Given the description of an element on the screen output the (x, y) to click on. 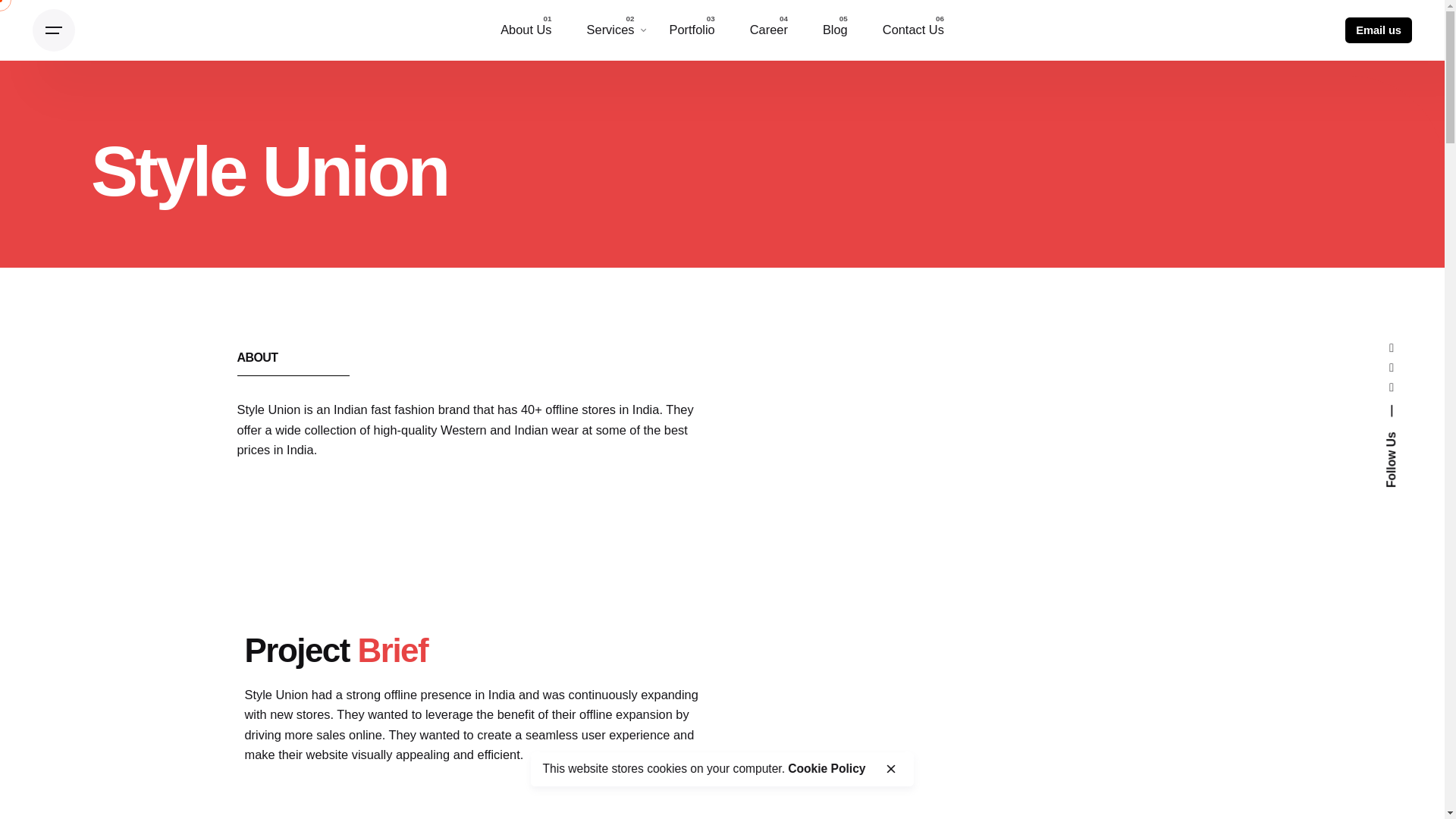
Career (768, 29)
About Us (526, 29)
Contact Us (912, 29)
Blog (834, 29)
Portfolio (692, 29)
Services (610, 29)
